Given the description of an element on the screen output the (x, y) to click on. 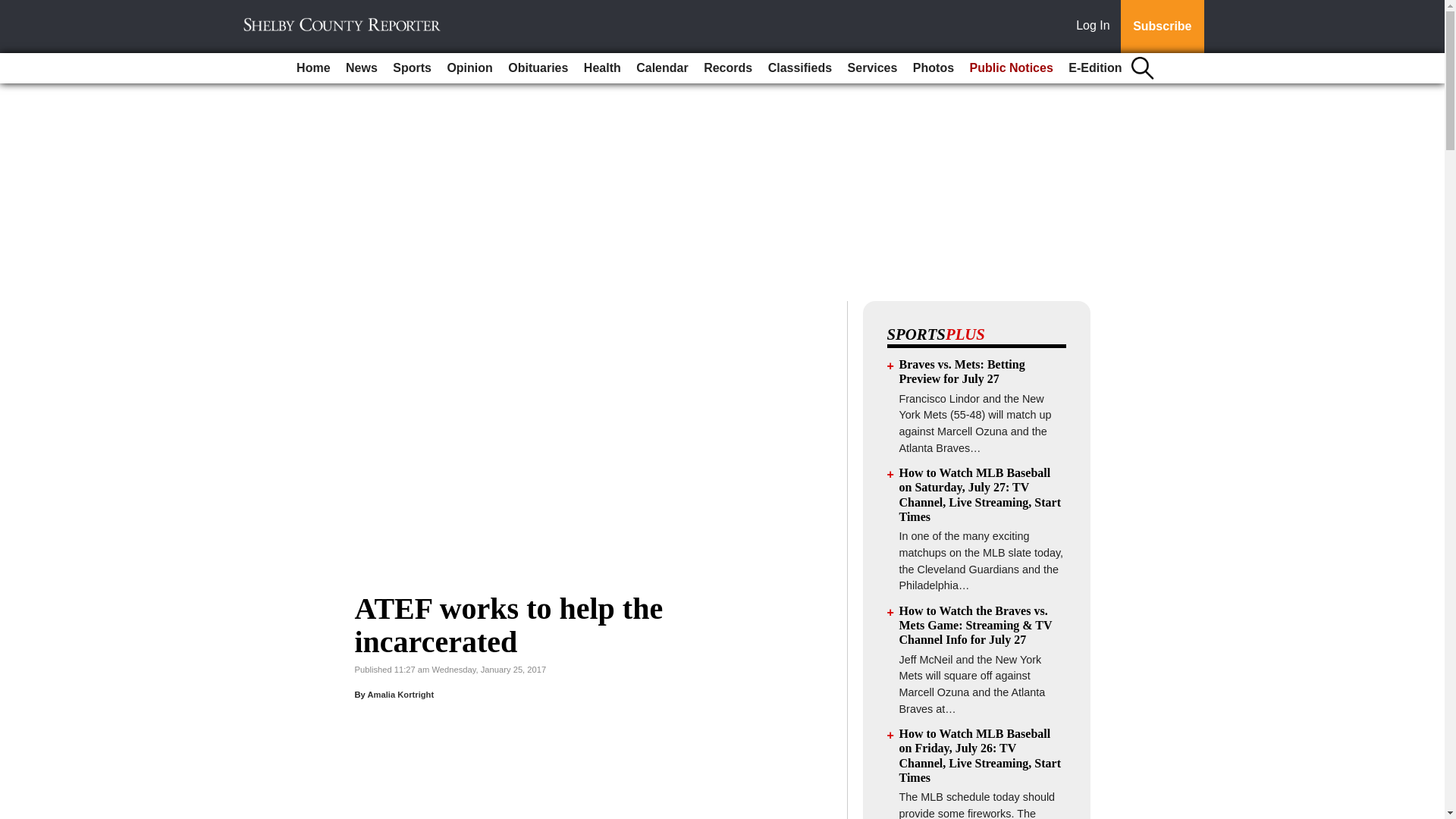
Classifieds (799, 68)
Records (727, 68)
Opinion (469, 68)
Subscribe (1162, 26)
Calendar (662, 68)
Services (872, 68)
Log In (1095, 26)
Obituaries (537, 68)
Sports (412, 68)
News (361, 68)
Health (602, 68)
Home (312, 68)
